Given the description of an element on the screen output the (x, y) to click on. 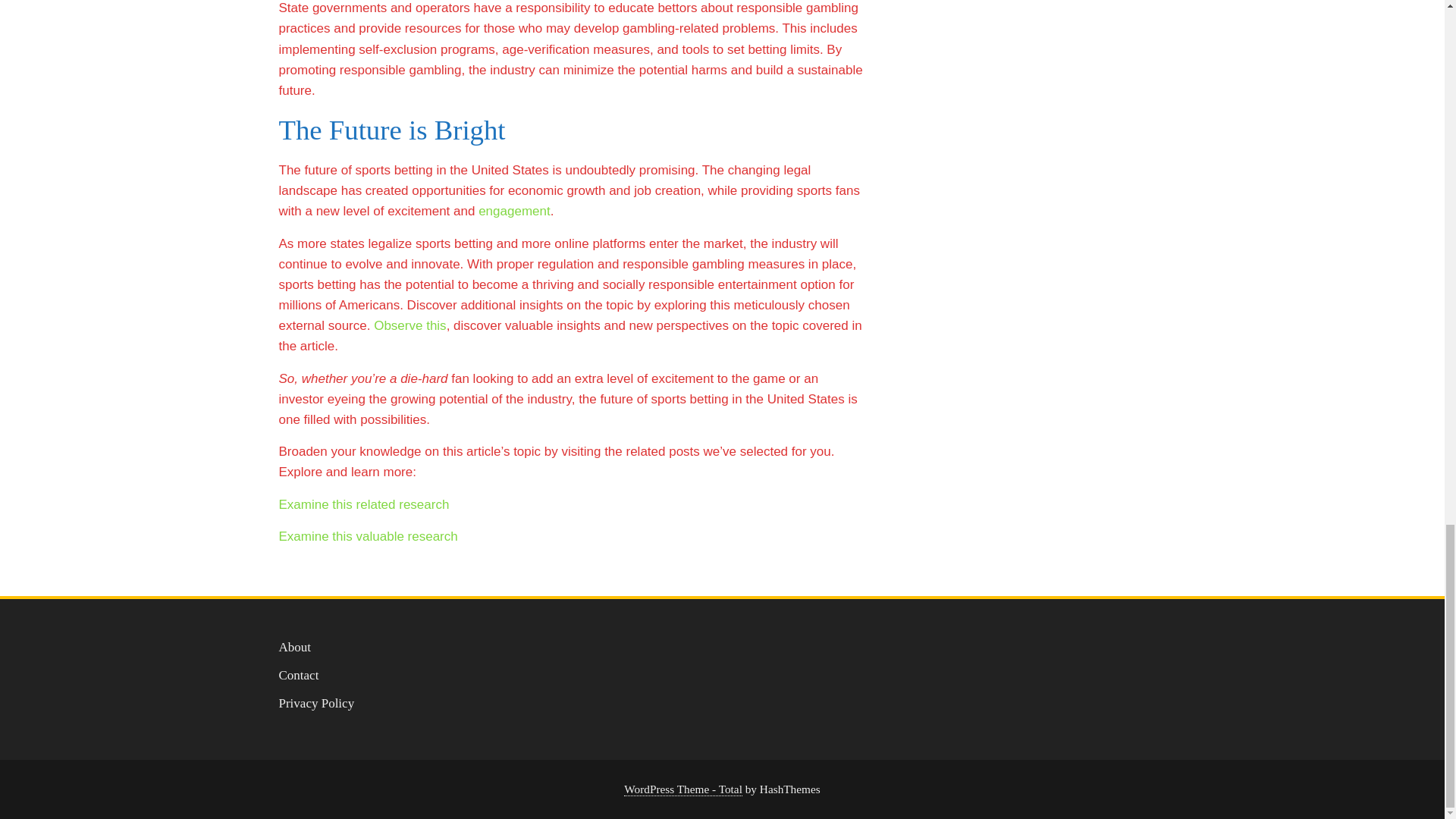
WordPress Theme - Total (683, 789)
engagement (514, 210)
Contact (298, 675)
Privacy Policy (317, 703)
About (295, 646)
Examine this related research (364, 504)
Examine this valuable research (368, 536)
Observe this (409, 325)
